Given the description of an element on the screen output the (x, y) to click on. 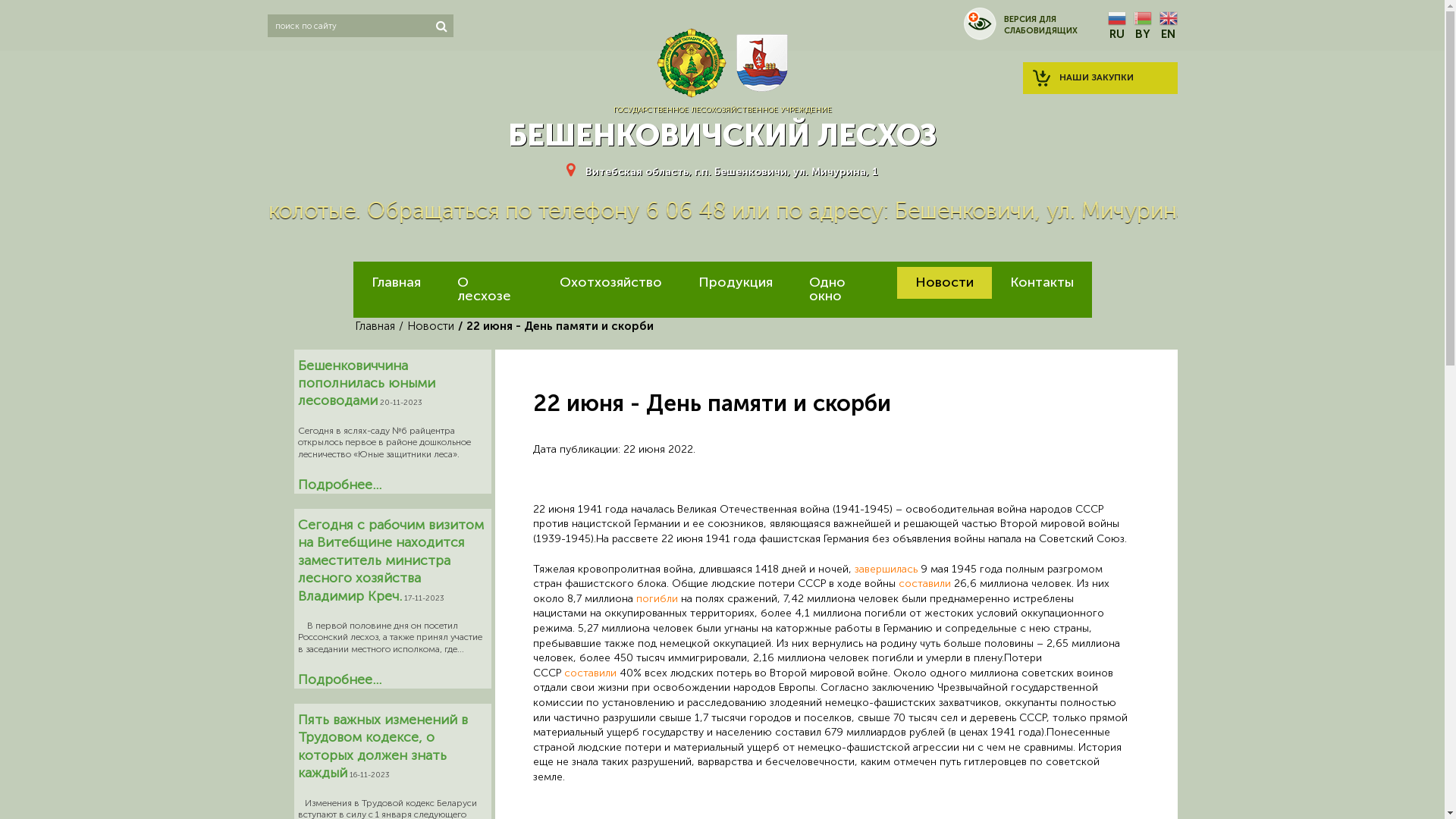
BY Element type: text (1141, 25)
RU Element type: text (1116, 25)
EN Element type: text (1167, 25)
